Given the description of an element on the screen output the (x, y) to click on. 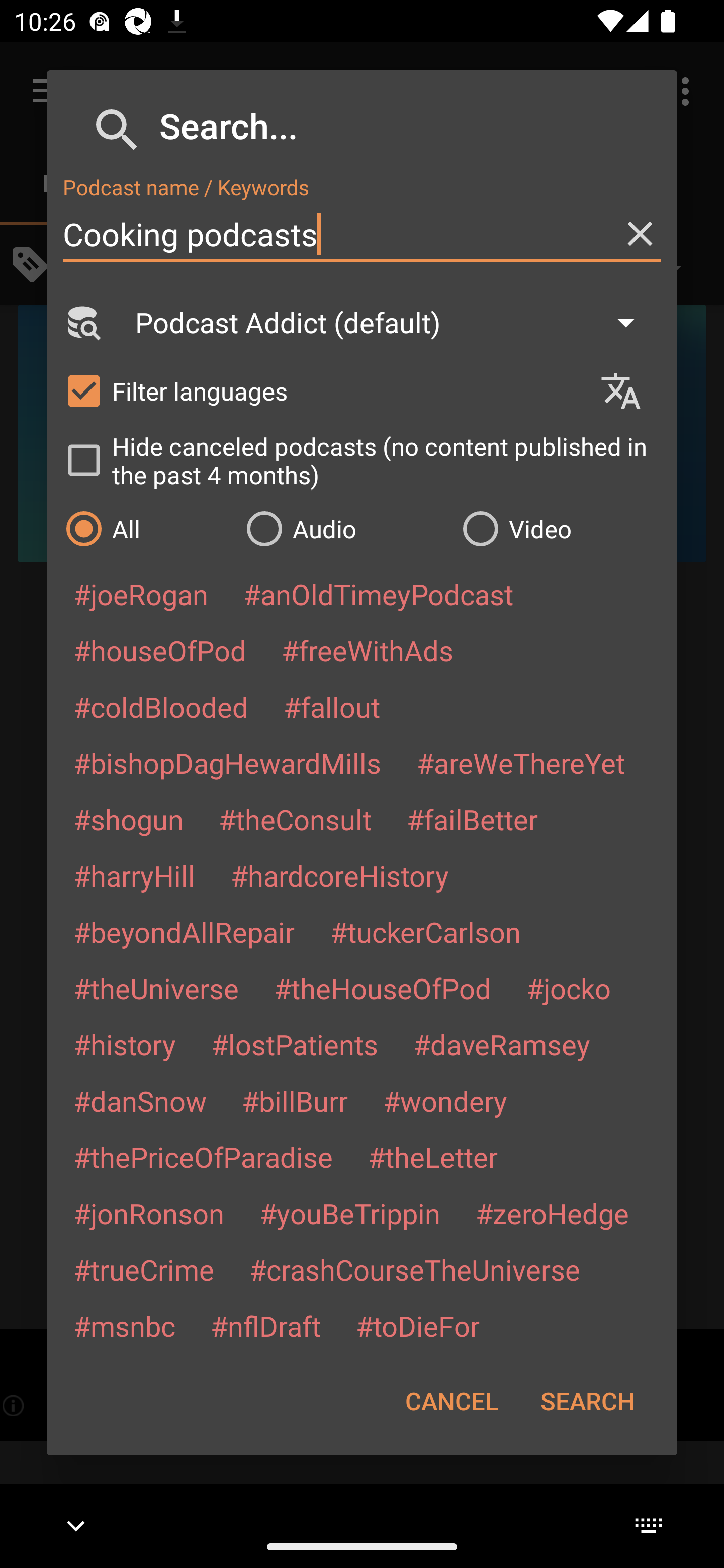
Cooking podcasts (361, 234)
Search Engine (82, 322)
Podcast Addict (default) (394, 322)
Languages selection (629, 390)
Filter languages (322, 390)
All (145, 528)
Audio (344, 528)
Video (560, 528)
#joeRogan (140, 594)
#anOldTimeyPodcast (378, 594)
#houseOfPod (159, 650)
#freeWithAds (367, 650)
#coldBlooded (160, 705)
#fallout (331, 705)
#bishopDagHewardMills (227, 762)
#areWeThereYet (521, 762)
#shogun (128, 818)
#theConsult (294, 818)
#failBetter (471, 818)
#harryHill (134, 875)
#hardcoreHistory (339, 875)
#beyondAllRepair (184, 931)
#tuckerCarlson (425, 931)
#theUniverse (155, 987)
#theHouseOfPod (381, 987)
#jocko (568, 987)
#history (124, 1044)
#lostPatients (294, 1044)
#daveRamsey (501, 1044)
#danSnow (139, 1100)
#billBurr (294, 1100)
#wondery (444, 1100)
#thePriceOfParadise (203, 1157)
#theLetter (432, 1157)
#jonRonson (148, 1213)
#youBeTrippin (349, 1213)
#zeroHedge (552, 1213)
#trueCrime (143, 1268)
#crashCourseTheUniverse (414, 1268)
#msnbc (124, 1325)
#nflDraft (265, 1325)
#toDieFor (417, 1325)
CANCEL (451, 1400)
SEARCH (587, 1400)
